Given the description of an element on the screen output the (x, y) to click on. 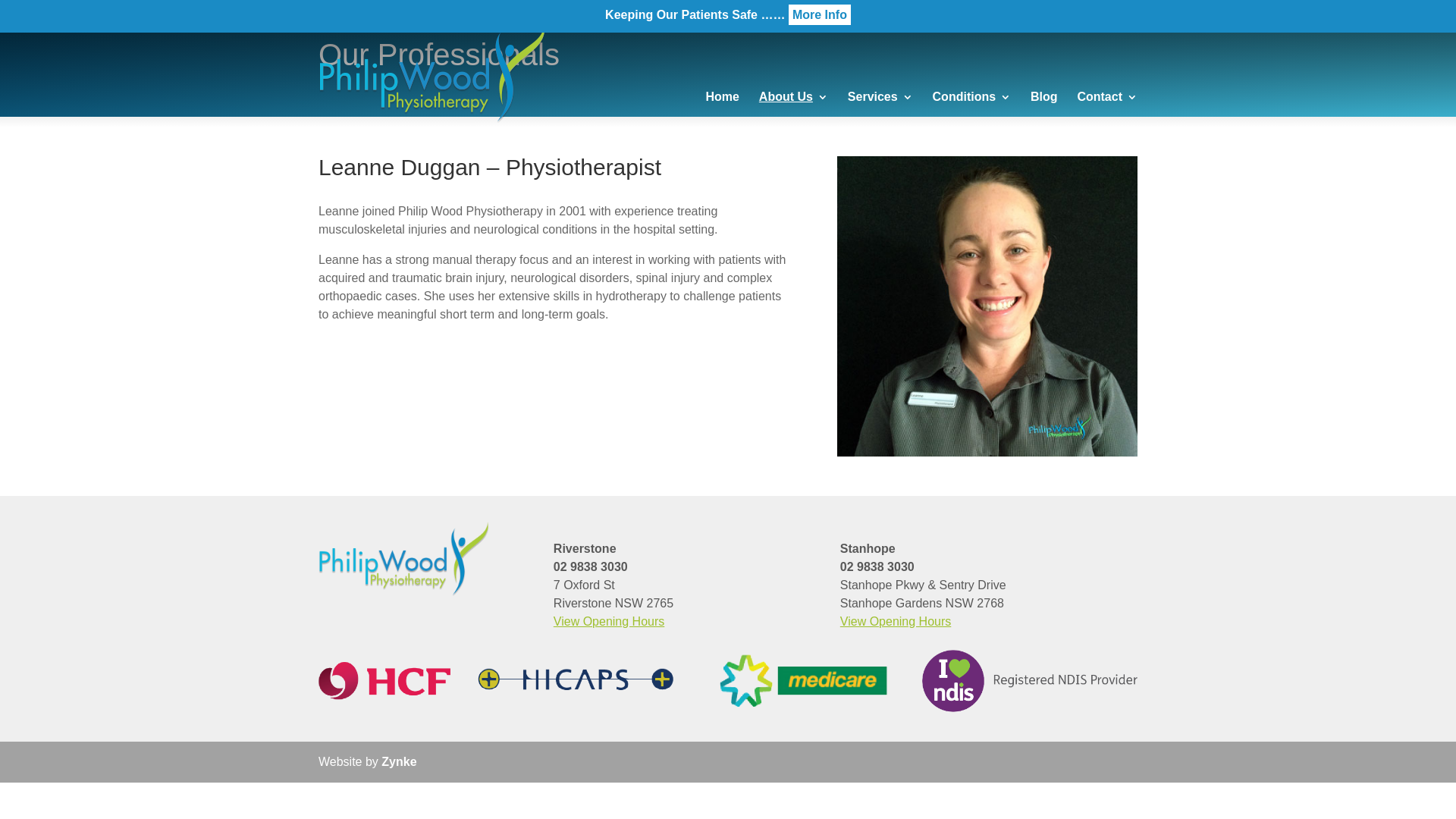
Conditions Element type: text (971, 109)
Contact Element type: text (1106, 109)
Zynke Element type: text (398, 761)
View Opening Hours Element type: text (895, 621)
Services Element type: text (880, 109)
Home Element type: text (721, 109)
About Us Element type: text (793, 109)
View Opening Hours Element type: text (608, 621)
Blog Element type: text (1043, 109)
